Given the description of an element on the screen output the (x, y) to click on. 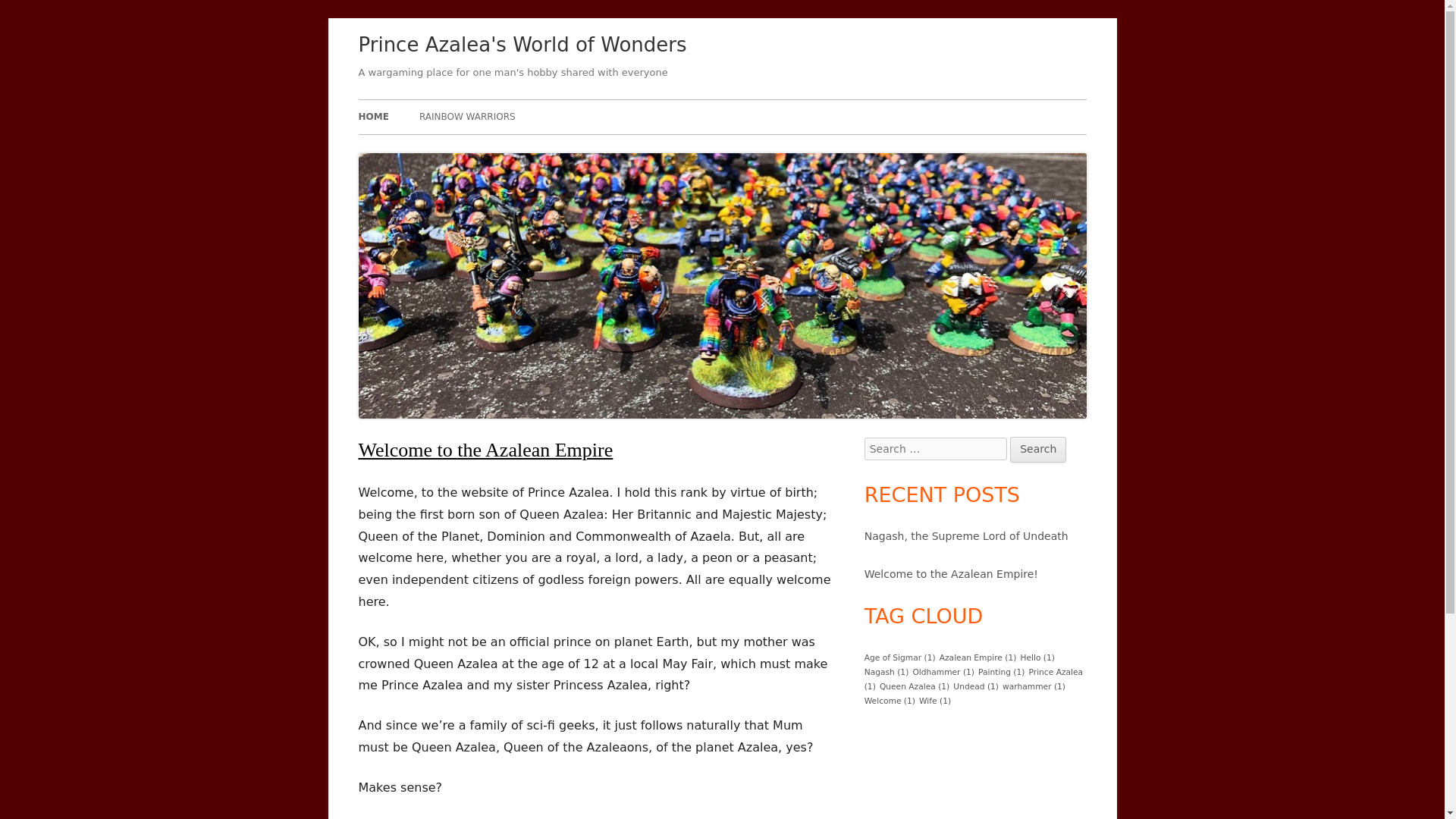
Search (1037, 449)
Welcome to the Azalean Empire! (951, 573)
RAINBOW WARRIORS (467, 116)
Nagash, the Supreme Lord of Undeath (966, 535)
Search (1037, 449)
Search (1037, 449)
HOME (373, 116)
Prince Azalea's World of Wonders (521, 45)
